Given the description of an element on the screen output the (x, y) to click on. 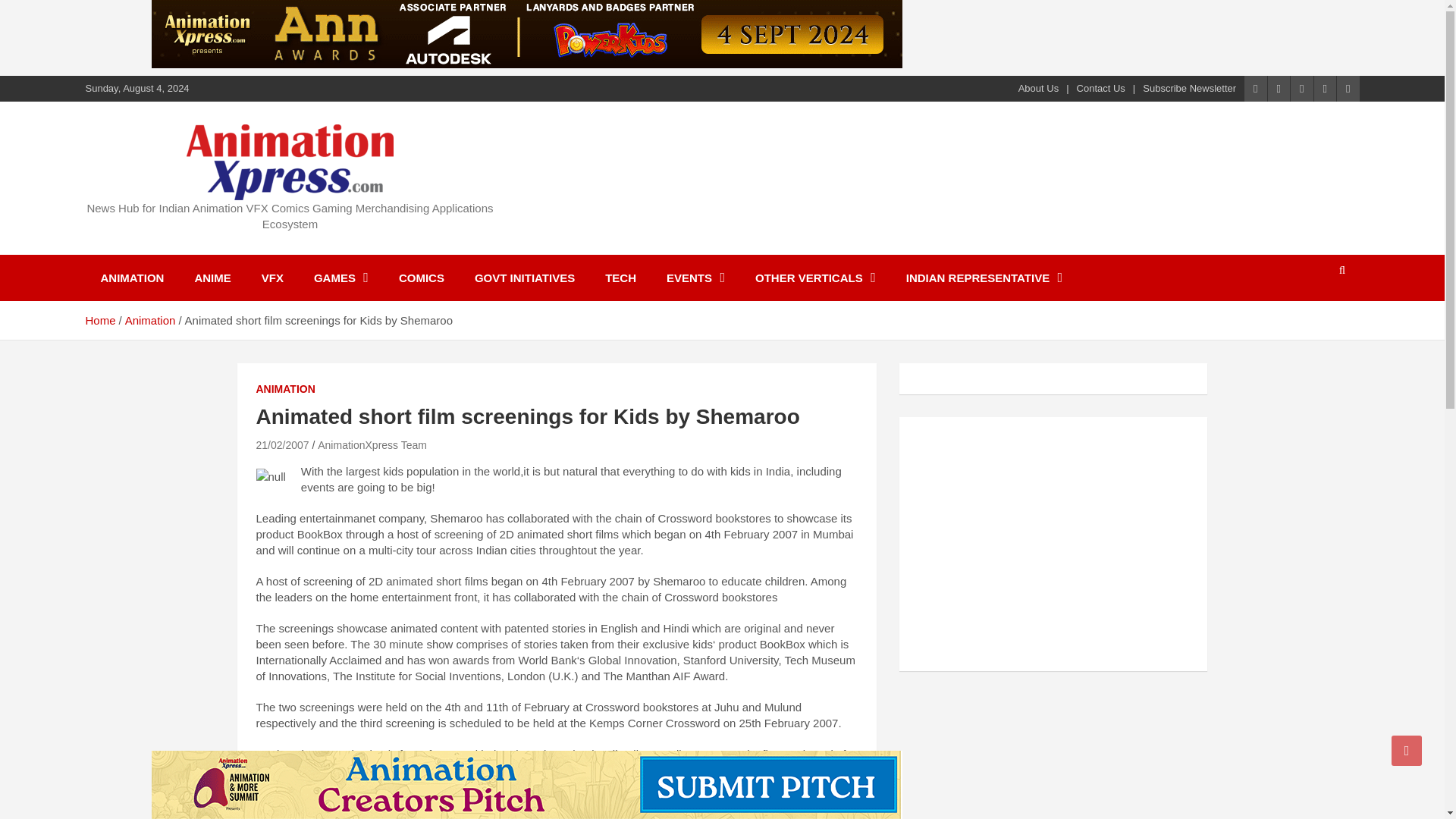
ANIMATION (131, 277)
Subscribe Newsletter (1189, 88)
GOVT INITIATIVES (524, 277)
COMICS (422, 277)
GAMES (341, 277)
VFX (272, 277)
About Us (1037, 88)
Animated short film screenings for Kids by Shemaroo (282, 444)
Contact Us (1101, 88)
Go to Top (1406, 750)
TECH (619, 277)
ANIME (212, 277)
YouTube video player (1024, 542)
EVENTS (694, 277)
